Given the description of an element on the screen output the (x, y) to click on. 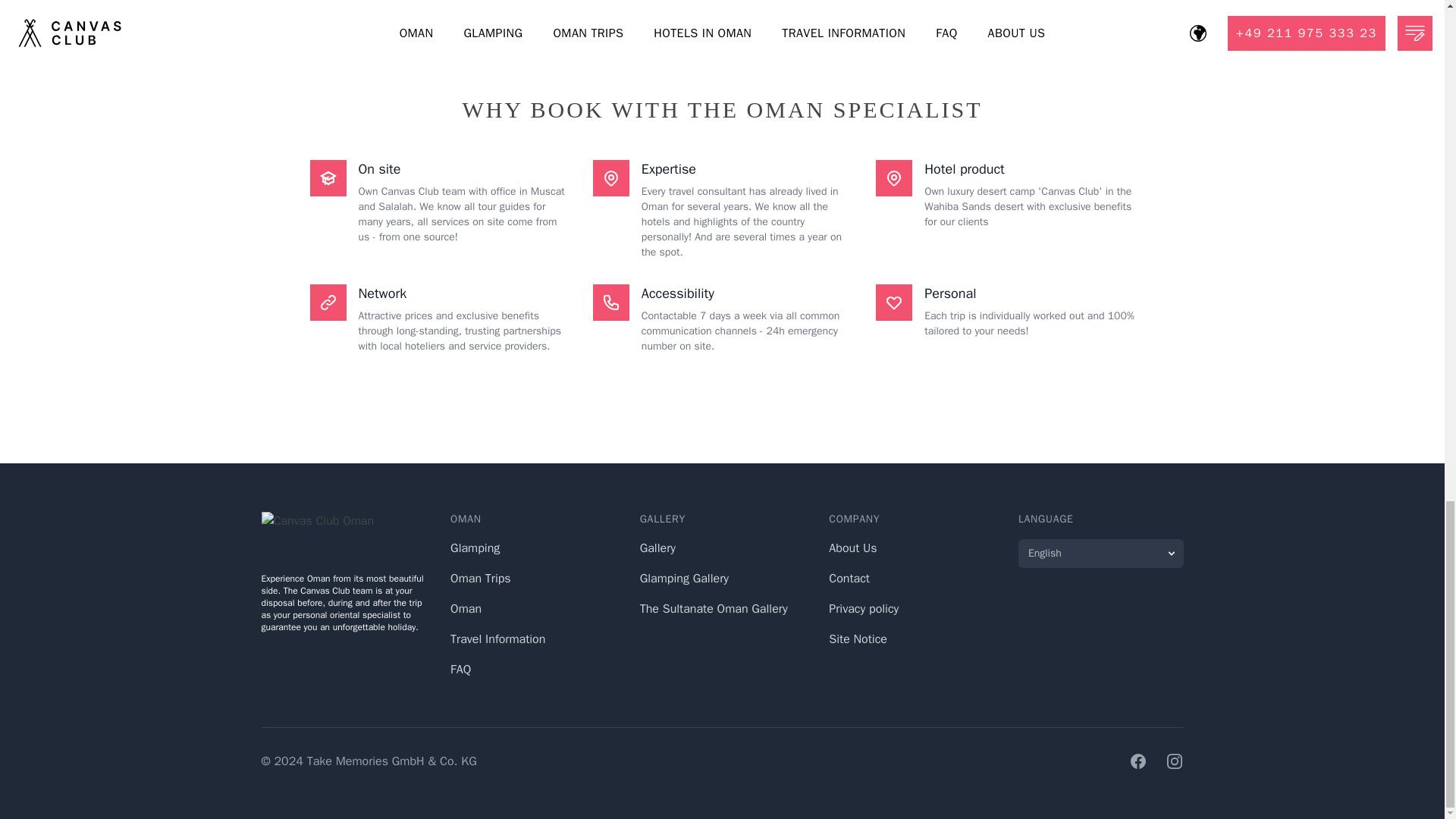
Privacy policy (863, 608)
FAQ (459, 669)
Oman (465, 608)
About Us (852, 548)
Facebook (1137, 761)
Oman Trips (480, 578)
Site Notice (857, 639)
Instagram (1173, 761)
Travel Information (496, 639)
Gallery (657, 548)
Glamping Gallery (684, 578)
Contact (848, 578)
The Sultanate Oman Gallery (713, 608)
Glamping (474, 548)
